Given the description of an element on the screen output the (x, y) to click on. 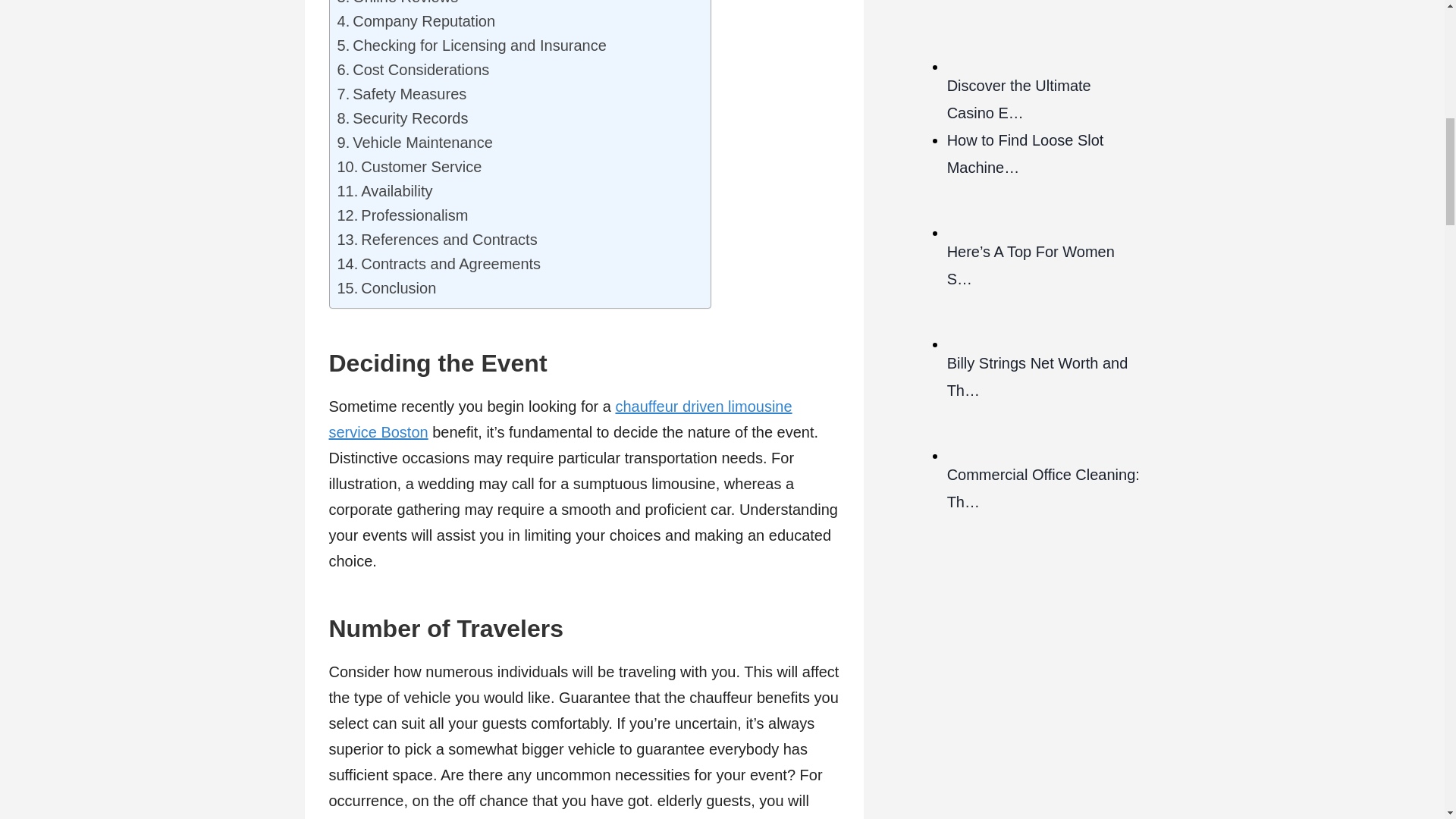
Online Reviews (397, 4)
Security Records (401, 118)
References and Contracts (436, 239)
Checking for Licensing and Insurance (470, 45)
Professionalism (401, 215)
Customer Service (408, 166)
Safety Measures (400, 93)
Contracts and Agreements (438, 263)
Company Reputation (415, 21)
Vehicle Maintenance (414, 142)
Cost Considerations (412, 69)
Availability (384, 191)
